Given the description of an element on the screen output the (x, y) to click on. 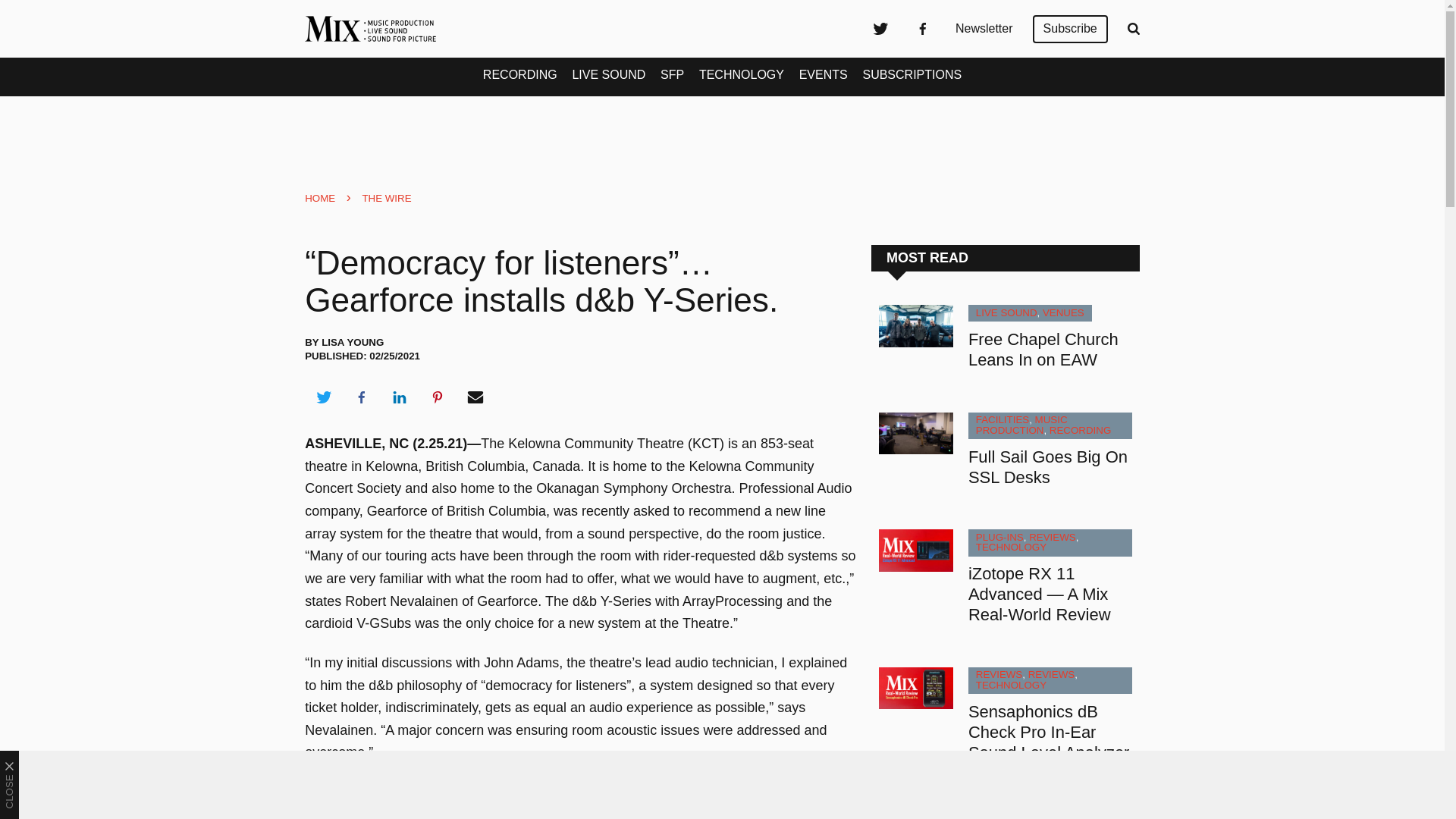
Share on Twitter (323, 397)
Share via Email (476, 397)
Share on Facebook (361, 397)
Share on LinkedIn (399, 397)
Share on Pinterest (438, 397)
